Given the description of an element on the screen output the (x, y) to click on. 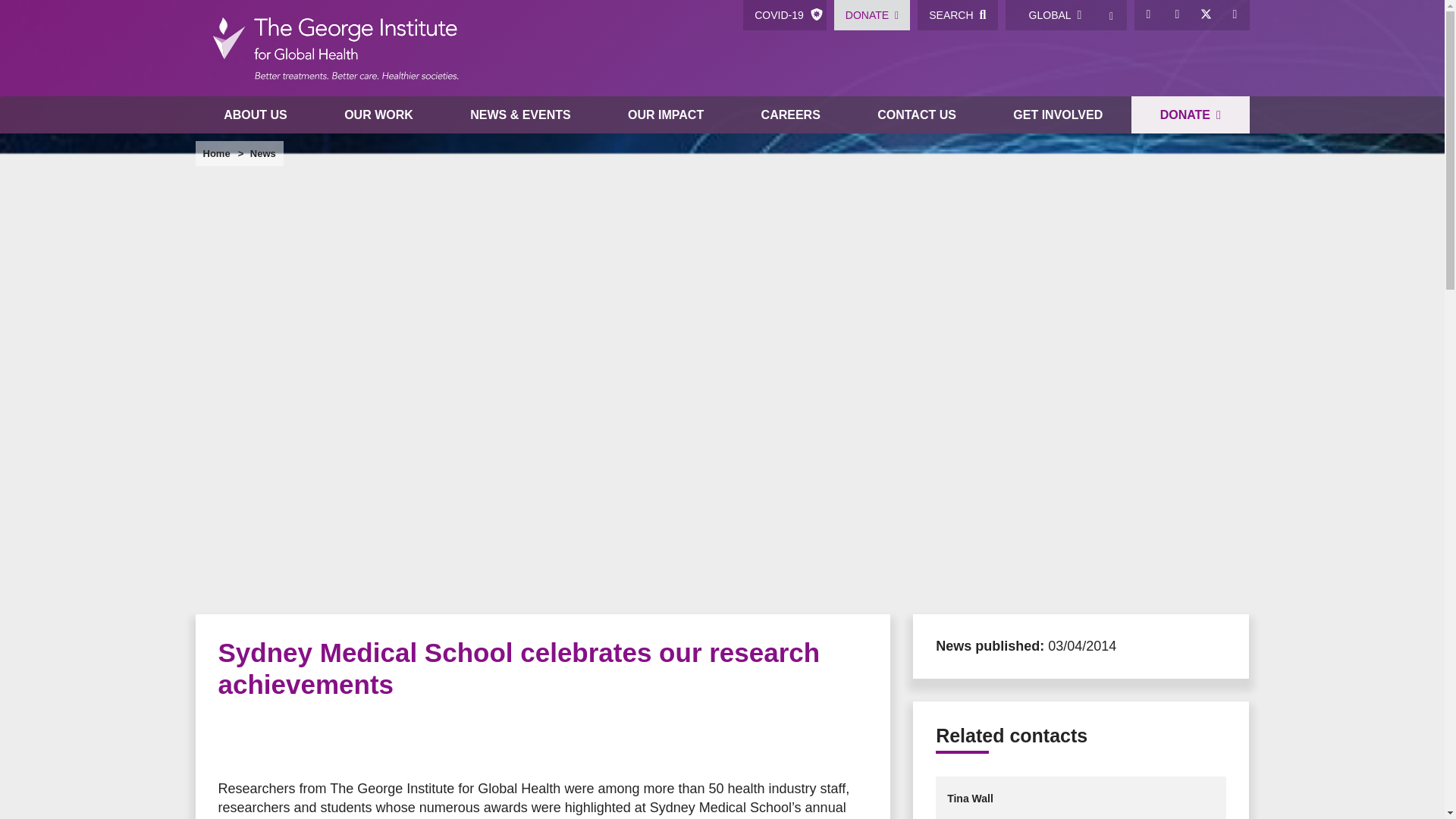
Twitter (1206, 15)
Skip to main content (721, 1)
Facebook (1148, 15)
DONATE (872, 15)
Share to Linkedin (324, 740)
Share to Facebook (233, 740)
Share to X (263, 740)
ABOUT US (255, 114)
SEARCH (957, 15)
LinkedIn (1177, 15)
